Given the description of an element on the screen output the (x, y) to click on. 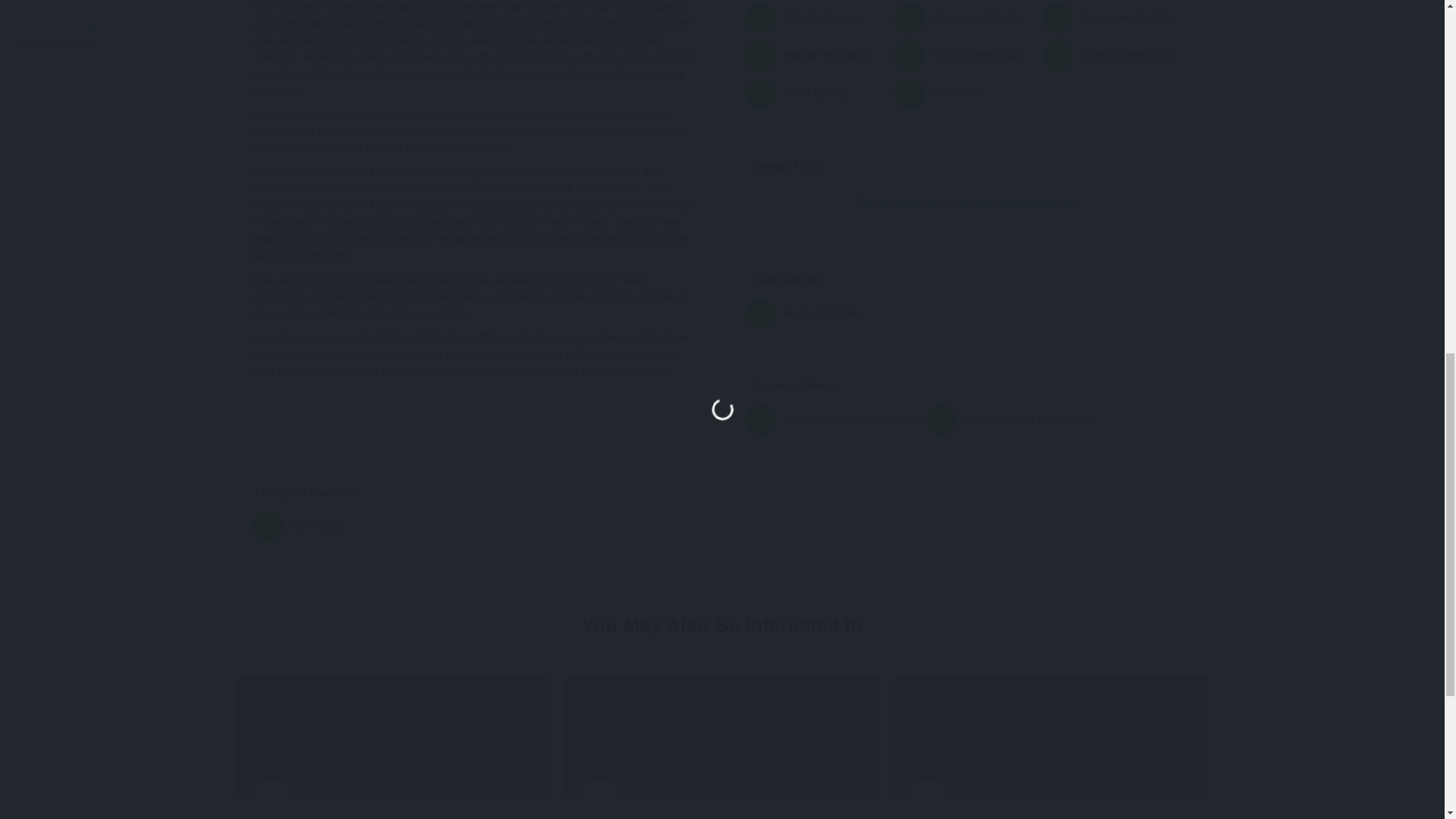
Habitat Restoration (814, 55)
Environmental Advocacy (964, 18)
Climate Change (814, 18)
Environmental Education (1112, 18)
Pollution Prevention (964, 55)
Community-based Programs (830, 419)
Resources and Information (1008, 419)
Water Quality (814, 93)
Year-round (471, 526)
Watershed (964, 93)
Click to Donate or to Join this Organization Now! (968, 201)
Rivers Streams Lakes (1112, 55)
